Given the description of an element on the screen output the (x, y) to click on. 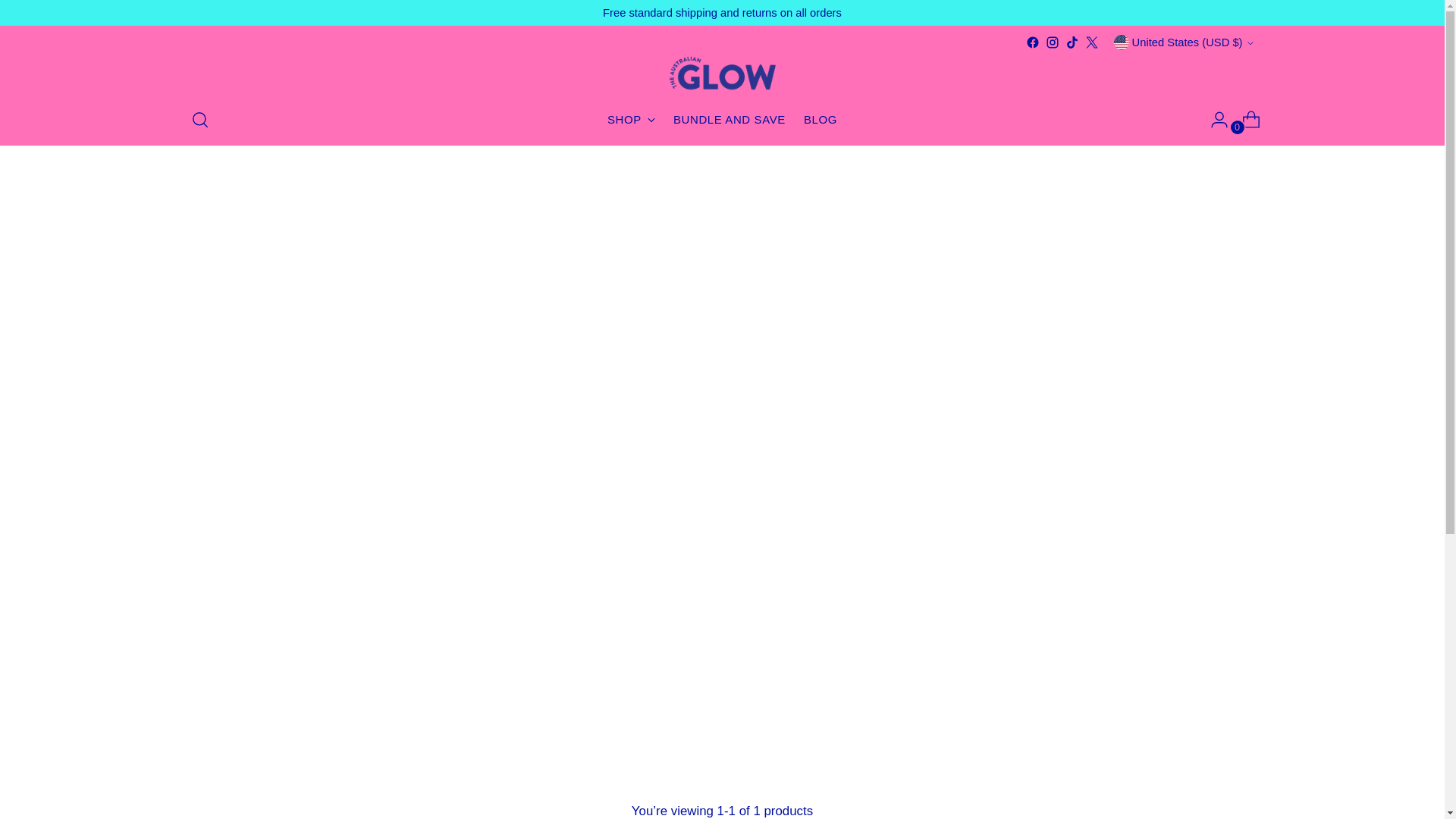
Australian Glow US on Tiktok (722, 119)
Australian Glow US on Twitter (1071, 42)
Australian Glow US on Facebook (1091, 42)
Australian Glow US on Instagram (1032, 42)
